Given the description of an element on the screen output the (x, y) to click on. 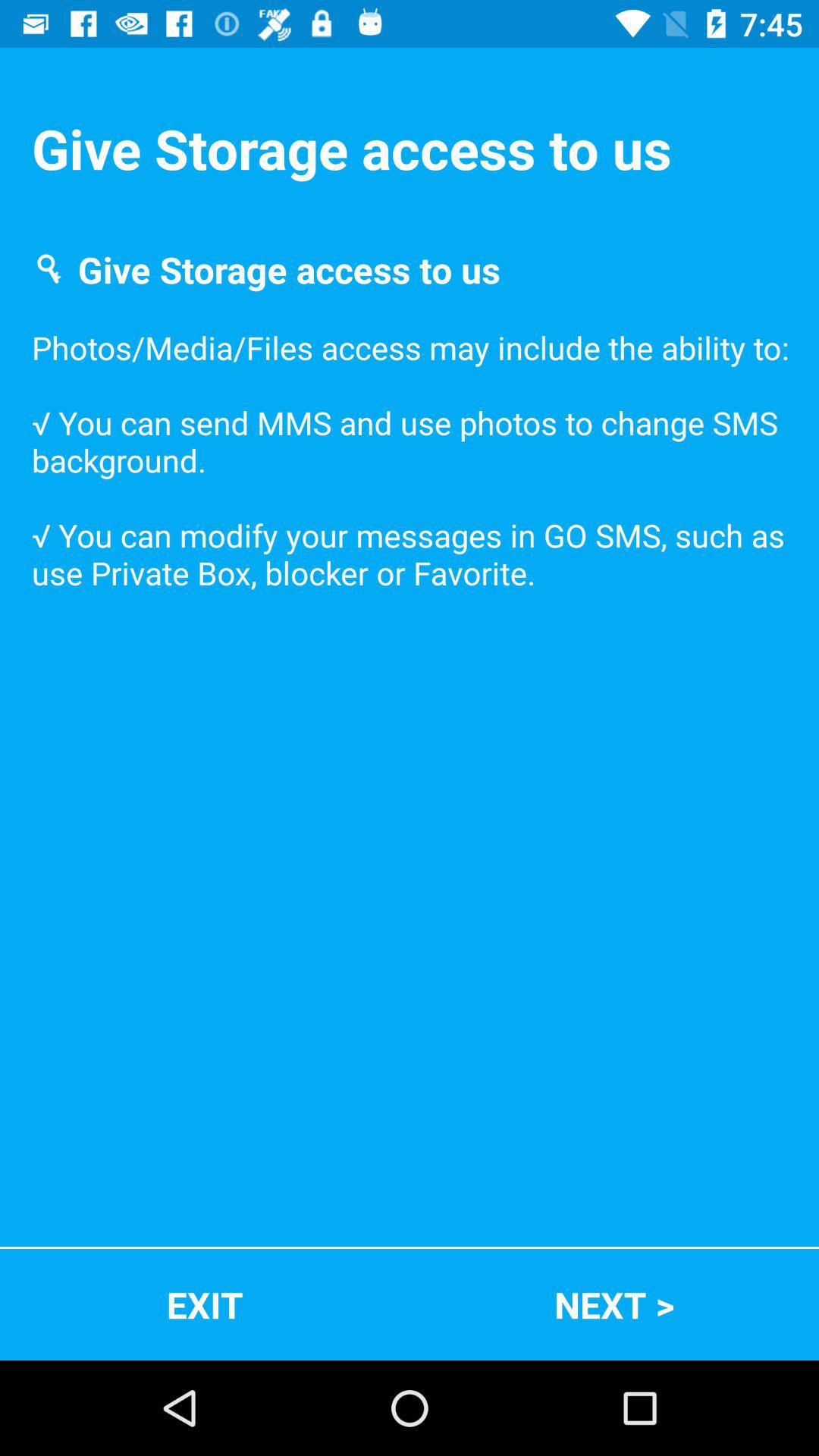
turn off the exit (204, 1304)
